Given the description of an element on the screen output the (x, y) to click on. 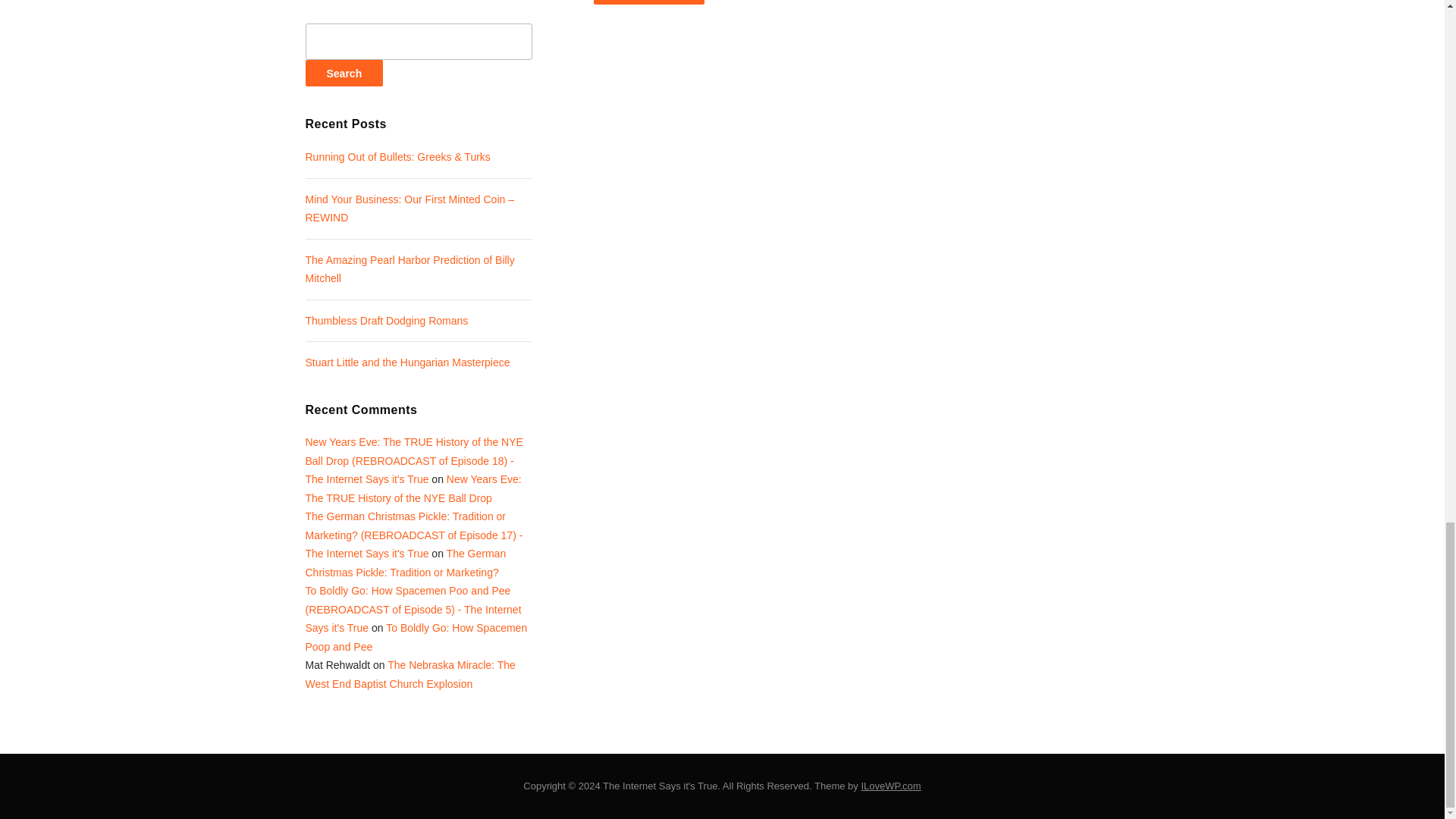
Post Comment (648, 2)
Search (343, 72)
Post Comment (648, 2)
Podcast WordPress Themes (890, 785)
